Given the description of an element on the screen output the (x, y) to click on. 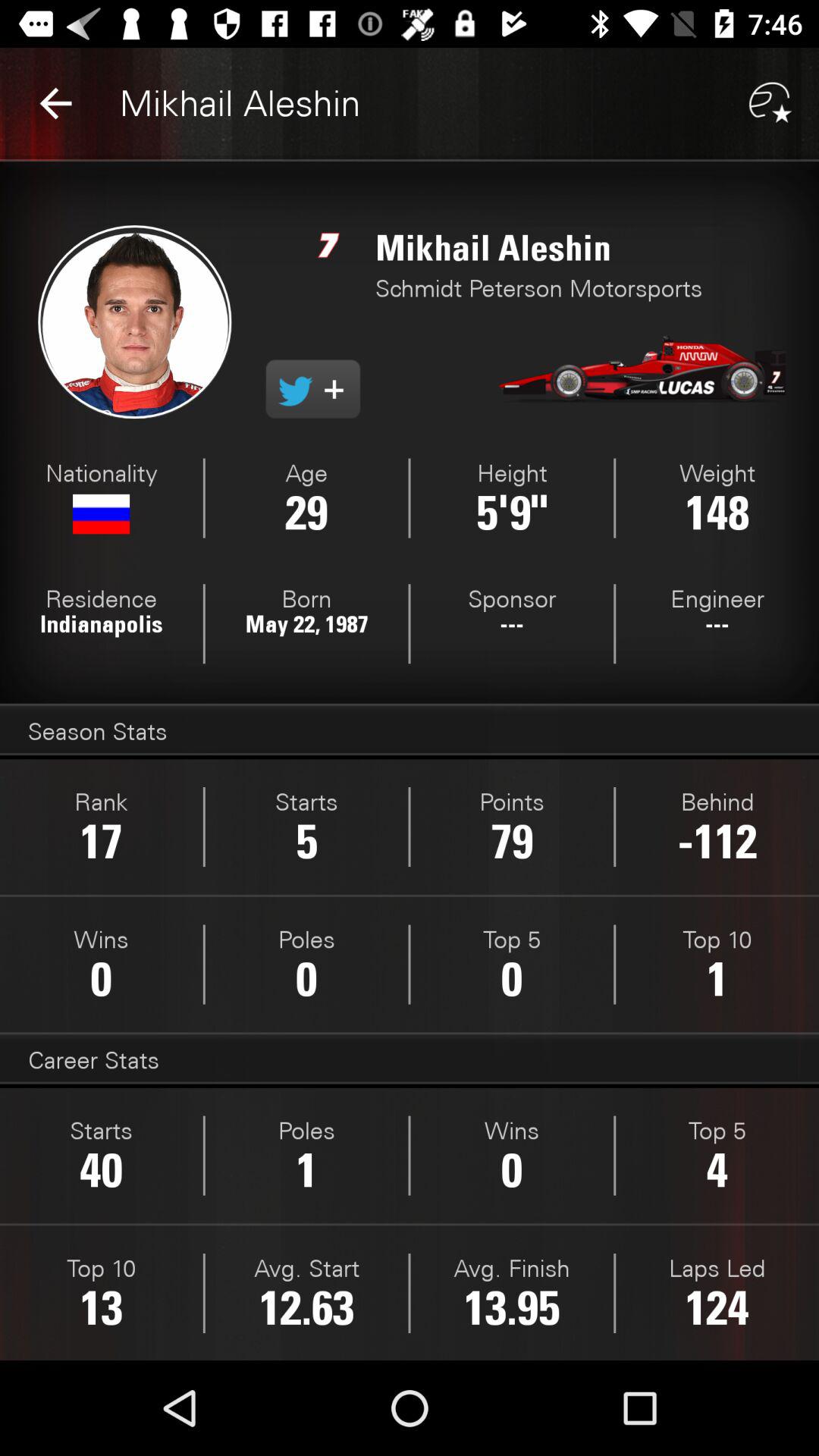
open twitter (312, 388)
